Given the description of an element on the screen output the (x, y) to click on. 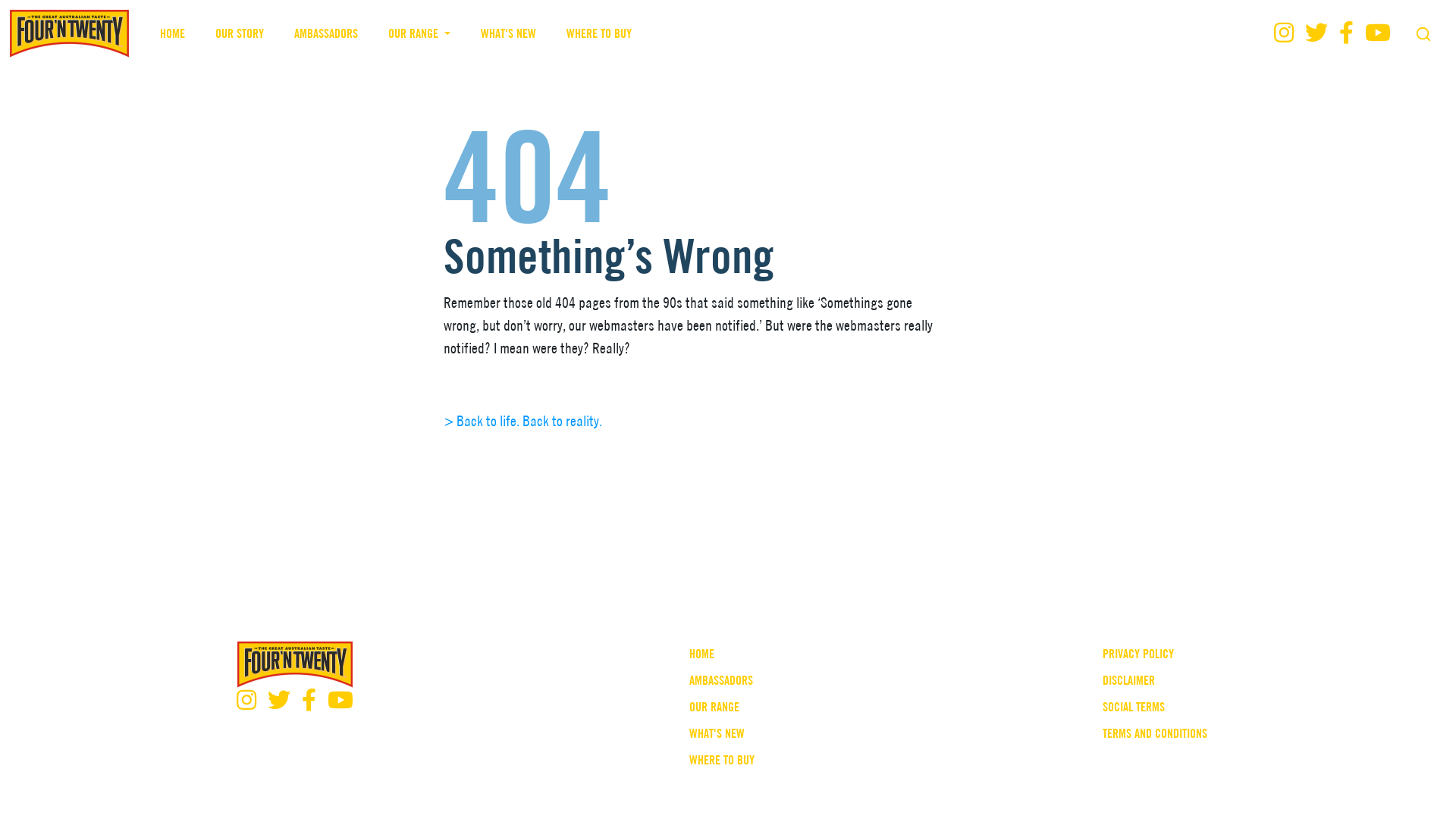
WHAT'S NEW Element type: text (508, 33)
SOCIAL TERMS Element type: text (1154, 706)
SEARCH Element type: text (1423, 33)
DISCLAIMER Element type: text (1154, 680)
WHERE TO BUY Element type: text (721, 759)
HOME Element type: text (721, 653)
OUR RANGE Element type: text (419, 33)
> Back to life. Back to reality. Element type: text (522, 420)
PRIVACY POLICY Element type: text (1154, 653)
WHERE TO BUY Element type: text (598, 33)
WHAT'S NEW Element type: text (721, 733)
HOME Element type: text (172, 33)
OUR RANGE Element type: text (721, 706)
AMBASSADORS Element type: text (721, 680)
AMBASSADORS Element type: text (325, 33)
TERMS AND CONDITIONS Element type: text (1154, 733)
OUR STORY Element type: text (239, 33)
